Given the description of an element on the screen output the (x, y) to click on. 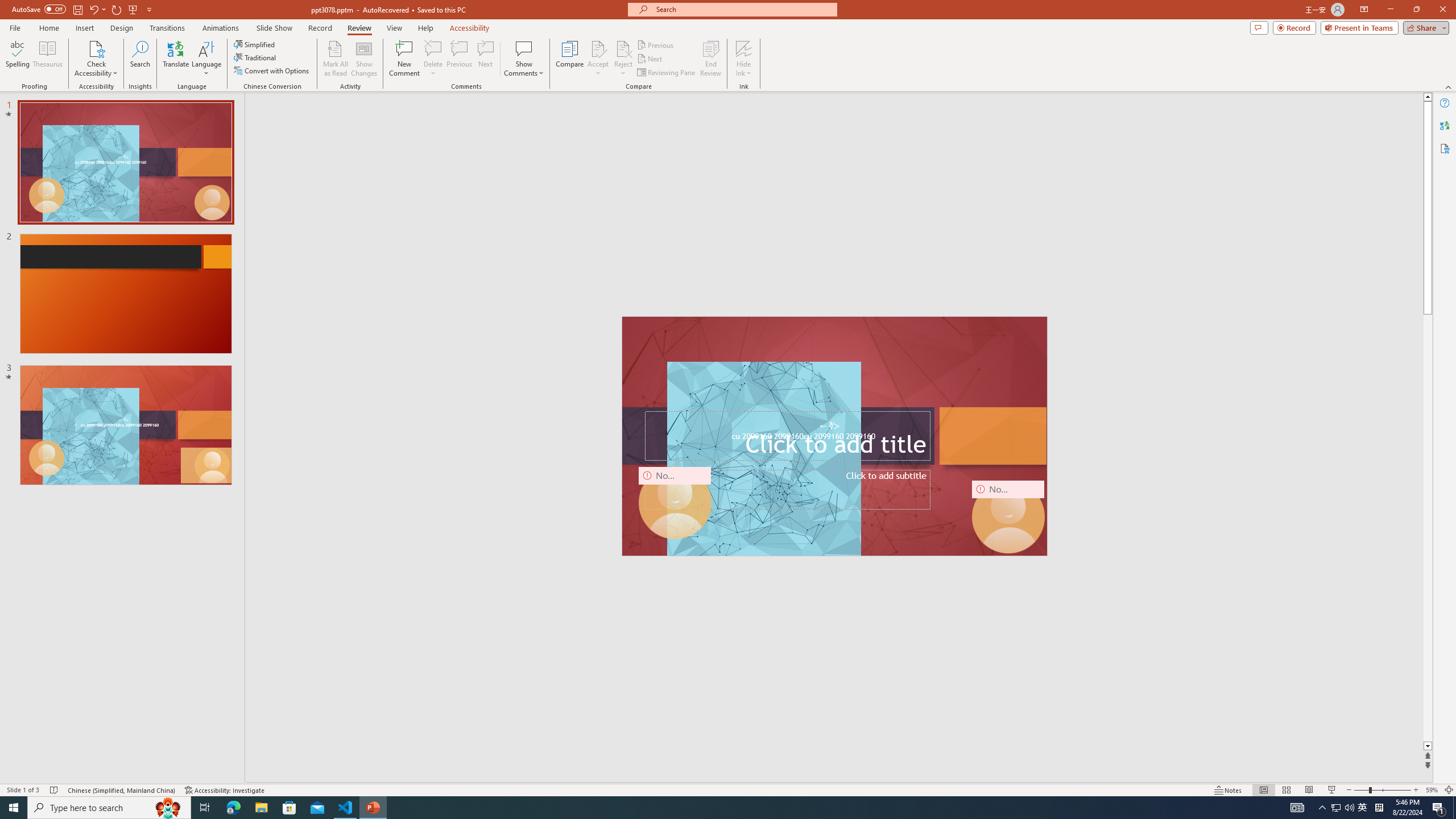
Reject (622, 58)
Language (206, 58)
Reviewing Pane (666, 72)
